Given the description of an element on the screen output the (x, y) to click on. 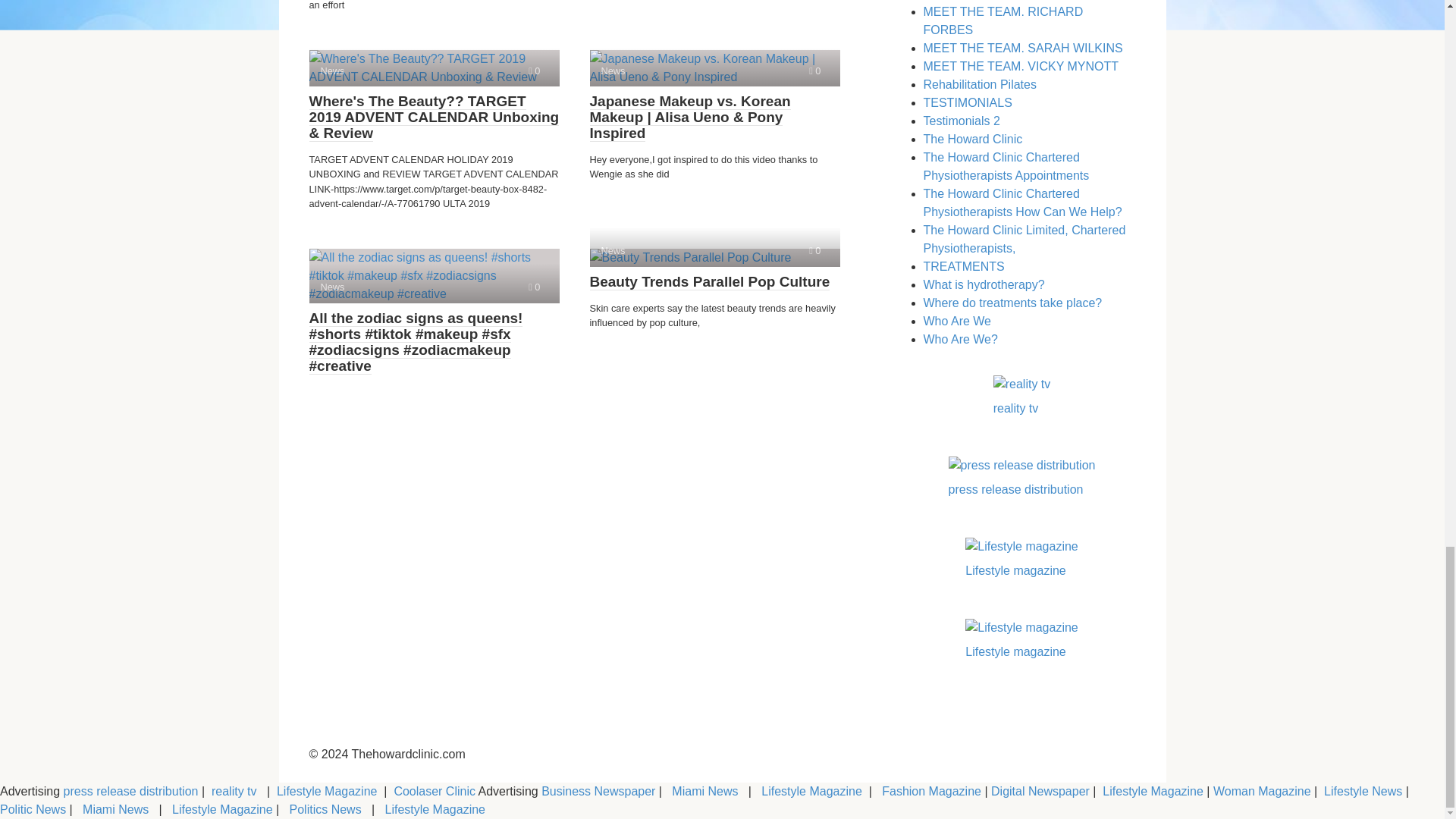
Comments (815, 70)
Comments (815, 250)
Beauty Trends Parallel Pop Culture (714, 257)
Comments (534, 286)
Comments (534, 70)
